Given the description of an element on the screen output the (x, y) to click on. 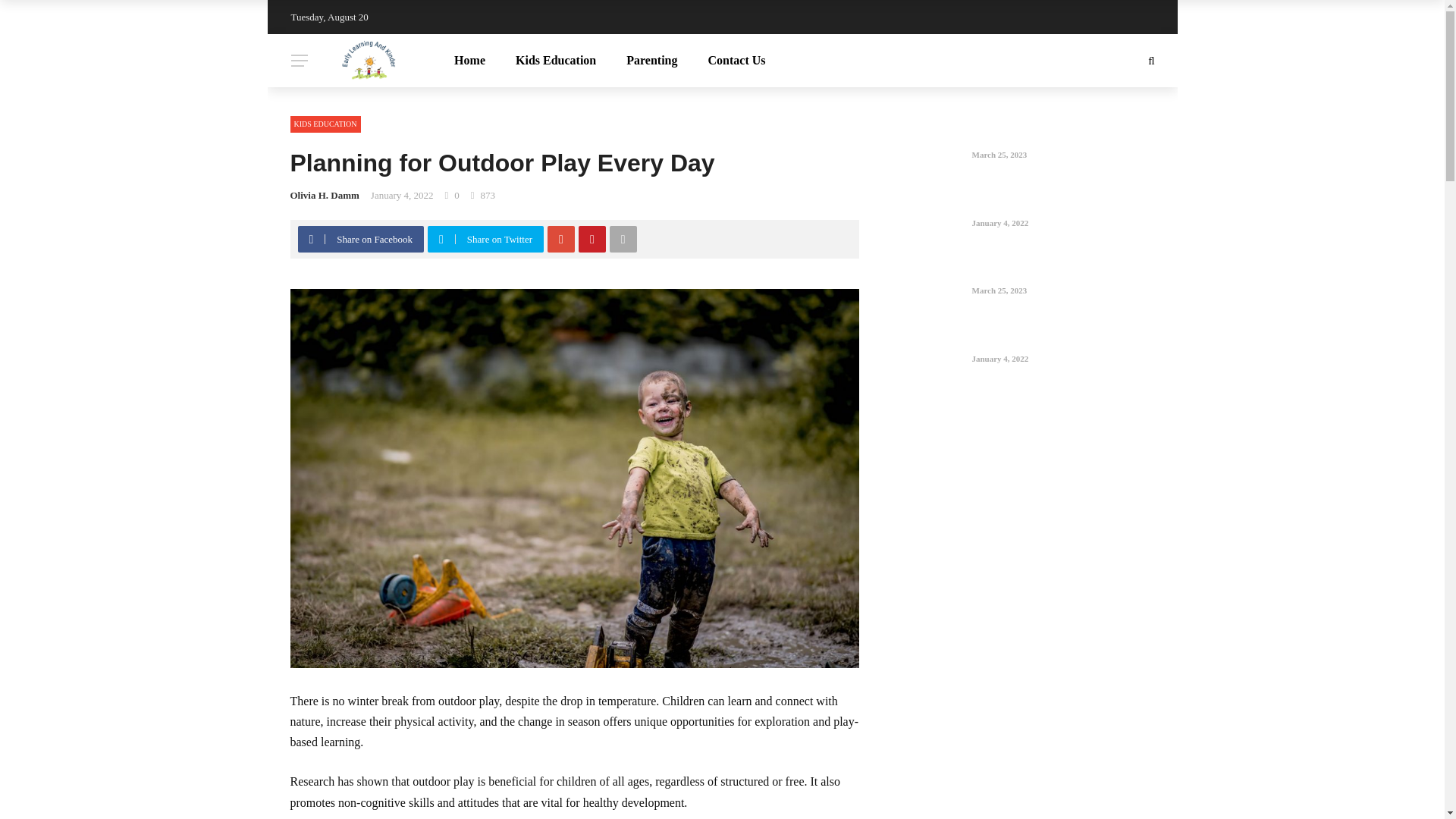
Kids Education (555, 60)
Contact Us (736, 60)
Home (469, 60)
Parenting (652, 60)
Share on Twitter (487, 239)
Share on Facebook (361, 239)
Olivia H. Damm (323, 194)
KIDS EDUCATION (324, 124)
